Given the description of an element on the screen output the (x, y) to click on. 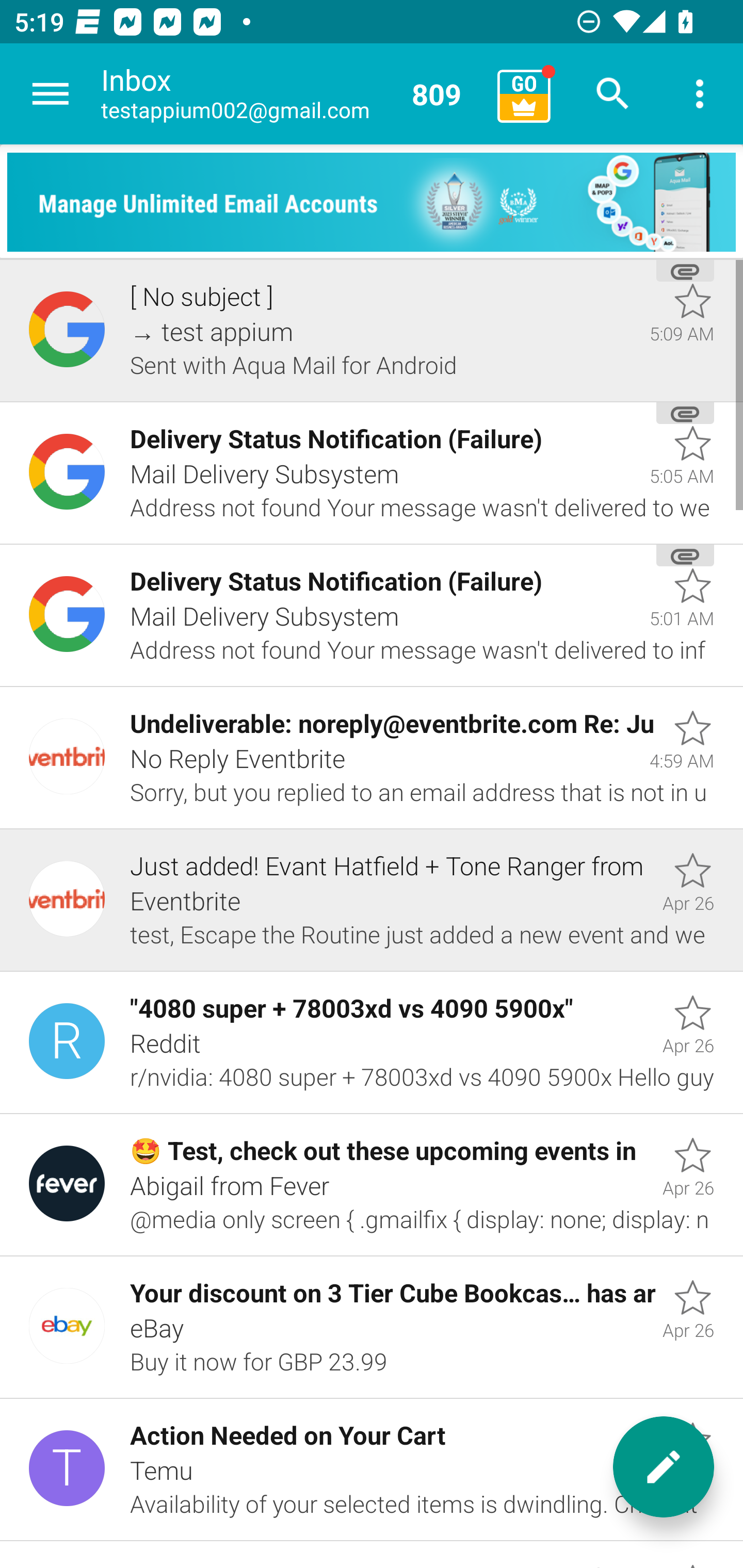
Navigate up (50, 93)
Inbox testappium002@gmail.com 809 (291, 93)
Search (612, 93)
More options (699, 93)
New message (663, 1466)
